Given the description of an element on the screen output the (x, y) to click on. 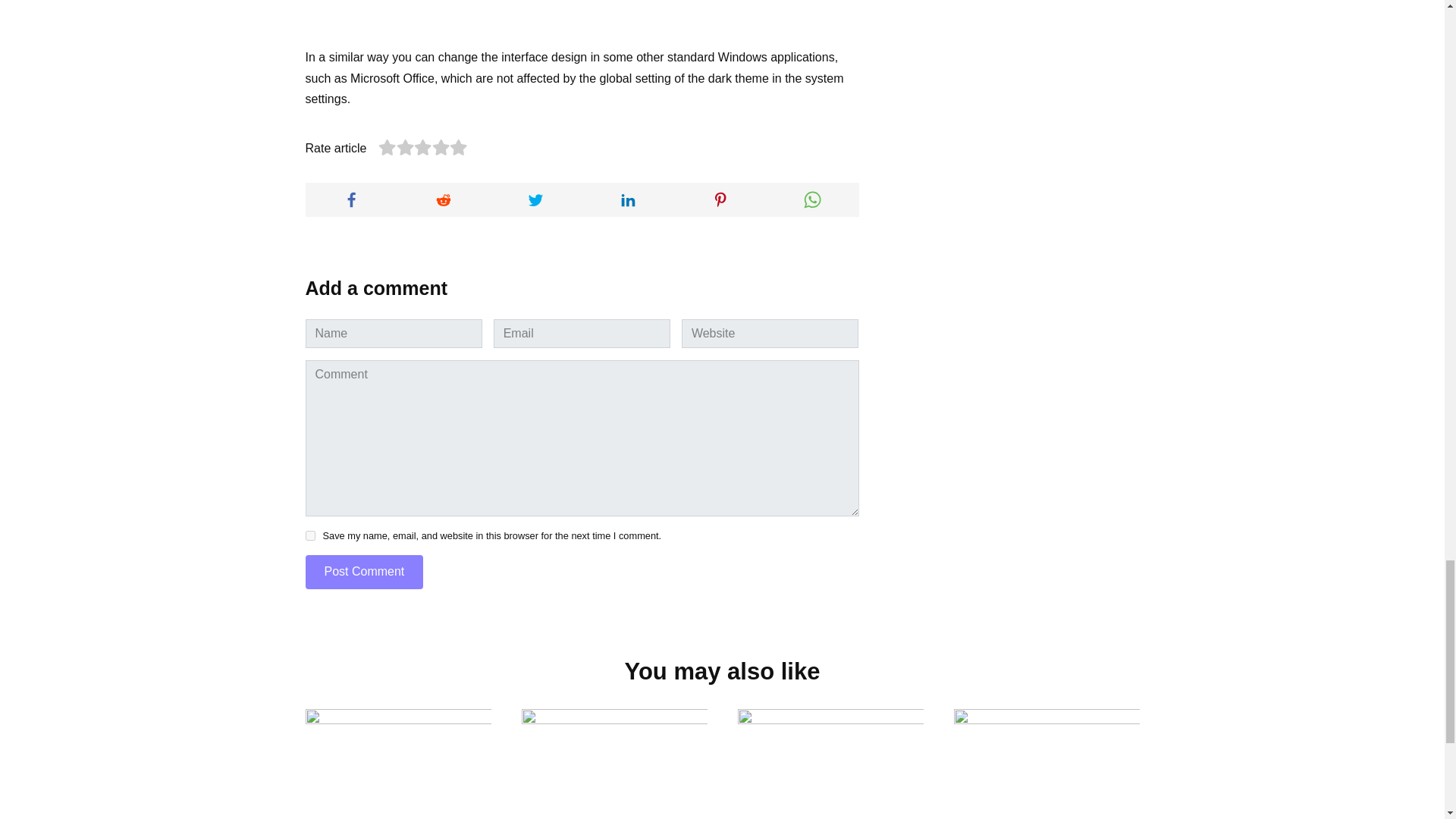
Post Comment (363, 571)
yes (309, 535)
Post Comment (363, 571)
